Given the description of an element on the screen output the (x, y) to click on. 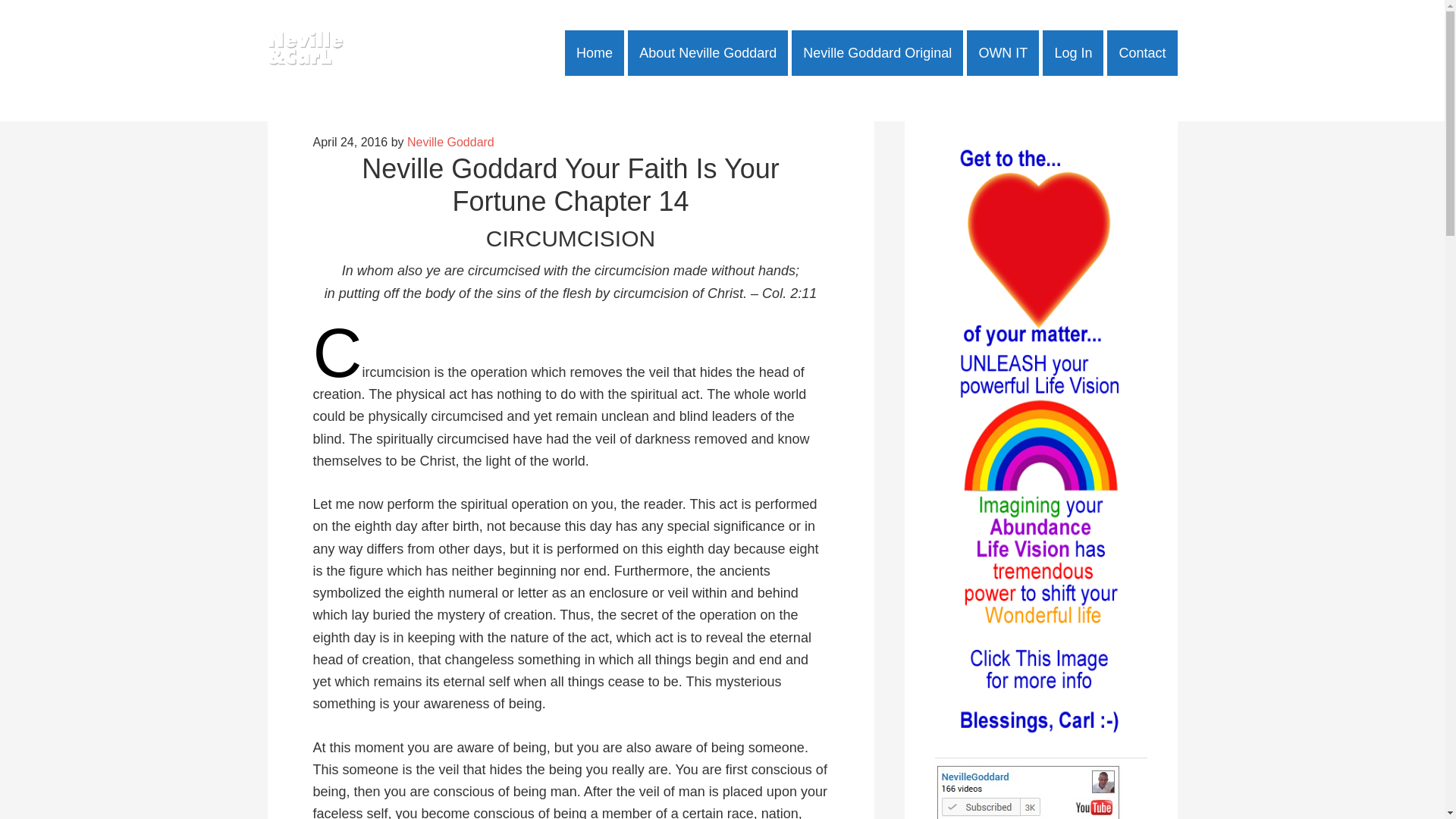
Log In (1072, 53)
Neville Goddard (451, 141)
Neville Goddard Home (594, 53)
About Neville Goddard (707, 53)
Neville Goddard Original (877, 53)
Home (594, 53)
Neville Goddard Now. Lectures, books, audio, mp3, pdf. (304, 53)
OWN IT (1002, 53)
Contact (1141, 53)
Secret Of Imagining Collection (1002, 53)
About Neville Goddard (707, 53)
